Given the description of an element on the screen output the (x, y) to click on. 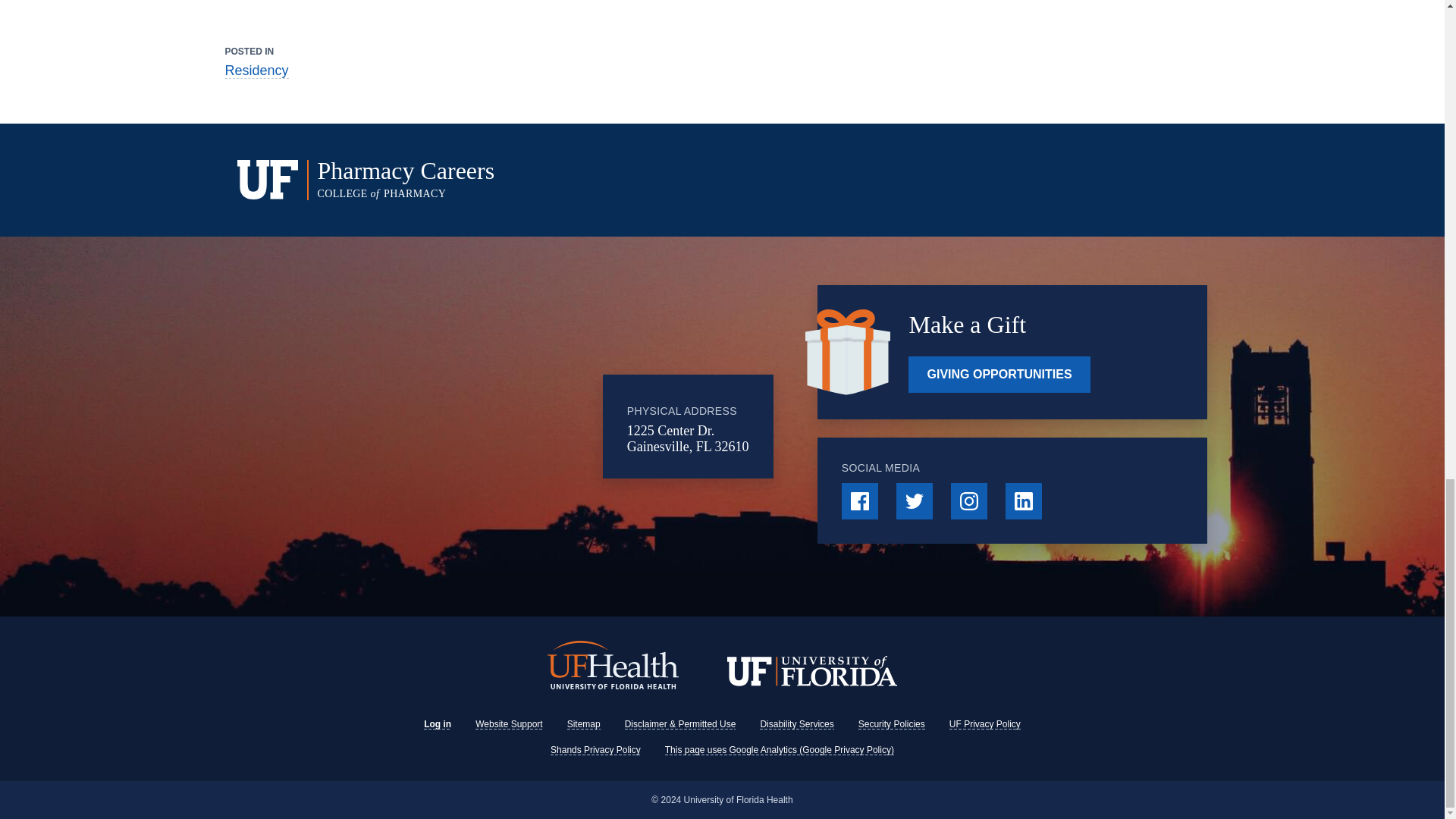
Residency (256, 70)
Security Policies (891, 724)
Google Maps Embed (478, 426)
Shands Privacy Policy (595, 749)
Disability Services (526, 179)
UF Privacy Policy (796, 724)
Log in (984, 724)
Website Support (437, 724)
Sitemap (509, 724)
